Given the description of an element on the screen output the (x, y) to click on. 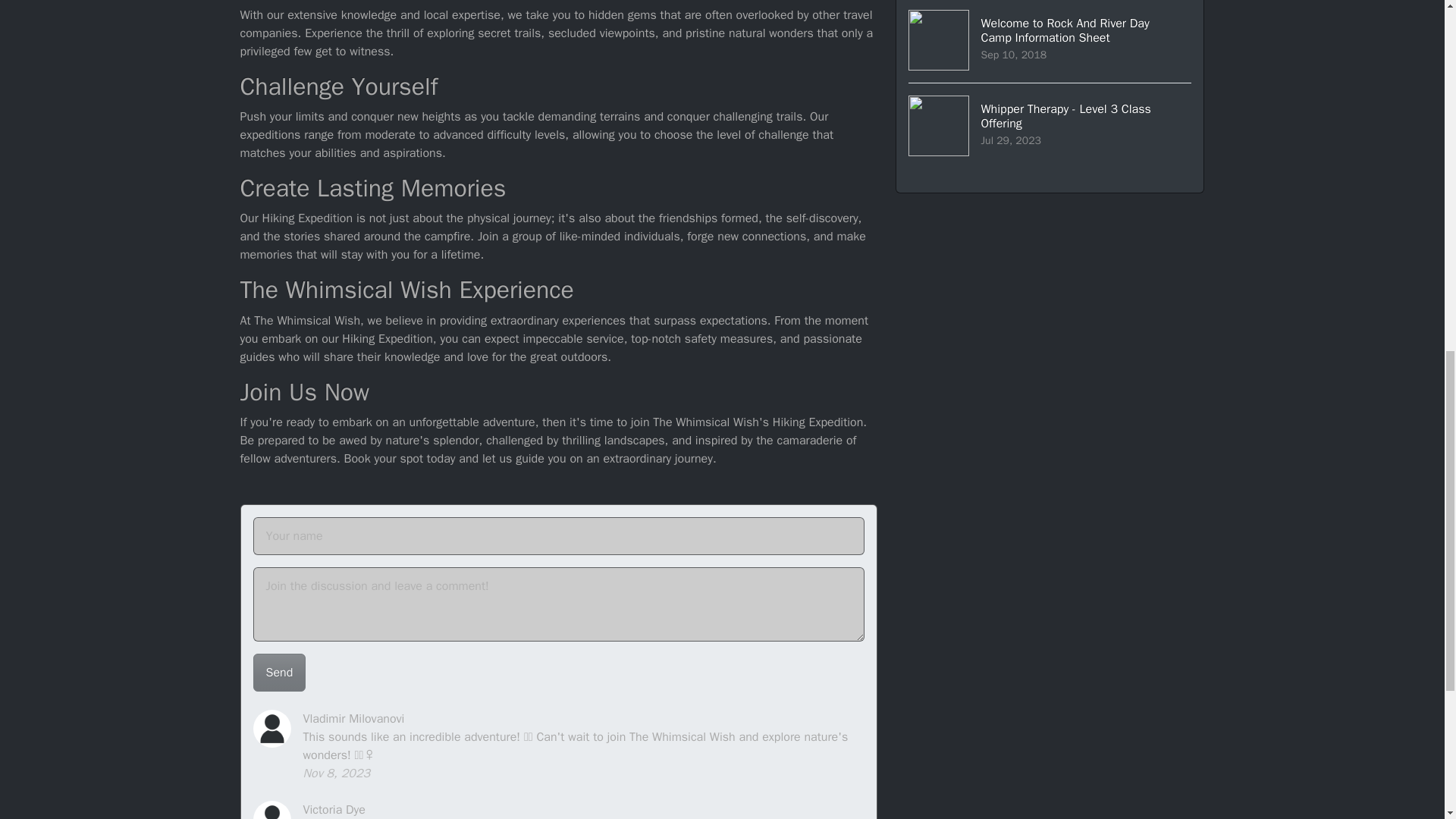
Send (1050, 125)
Send (279, 672)
